Given the description of an element on the screen output the (x, y) to click on. 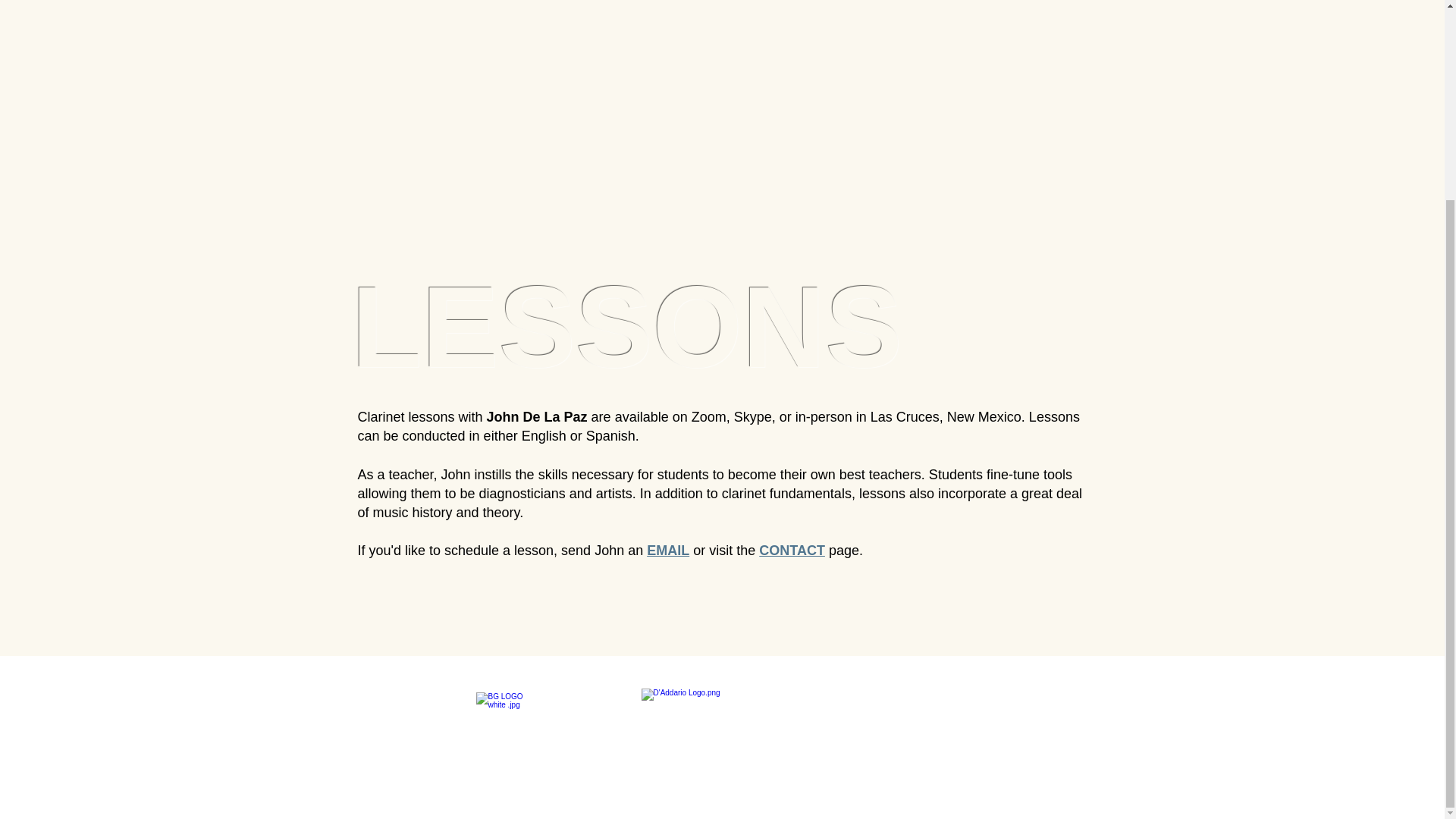
CONTACT (791, 549)
EMAIL (667, 549)
